Given the description of an element on the screen output the (x, y) to click on. 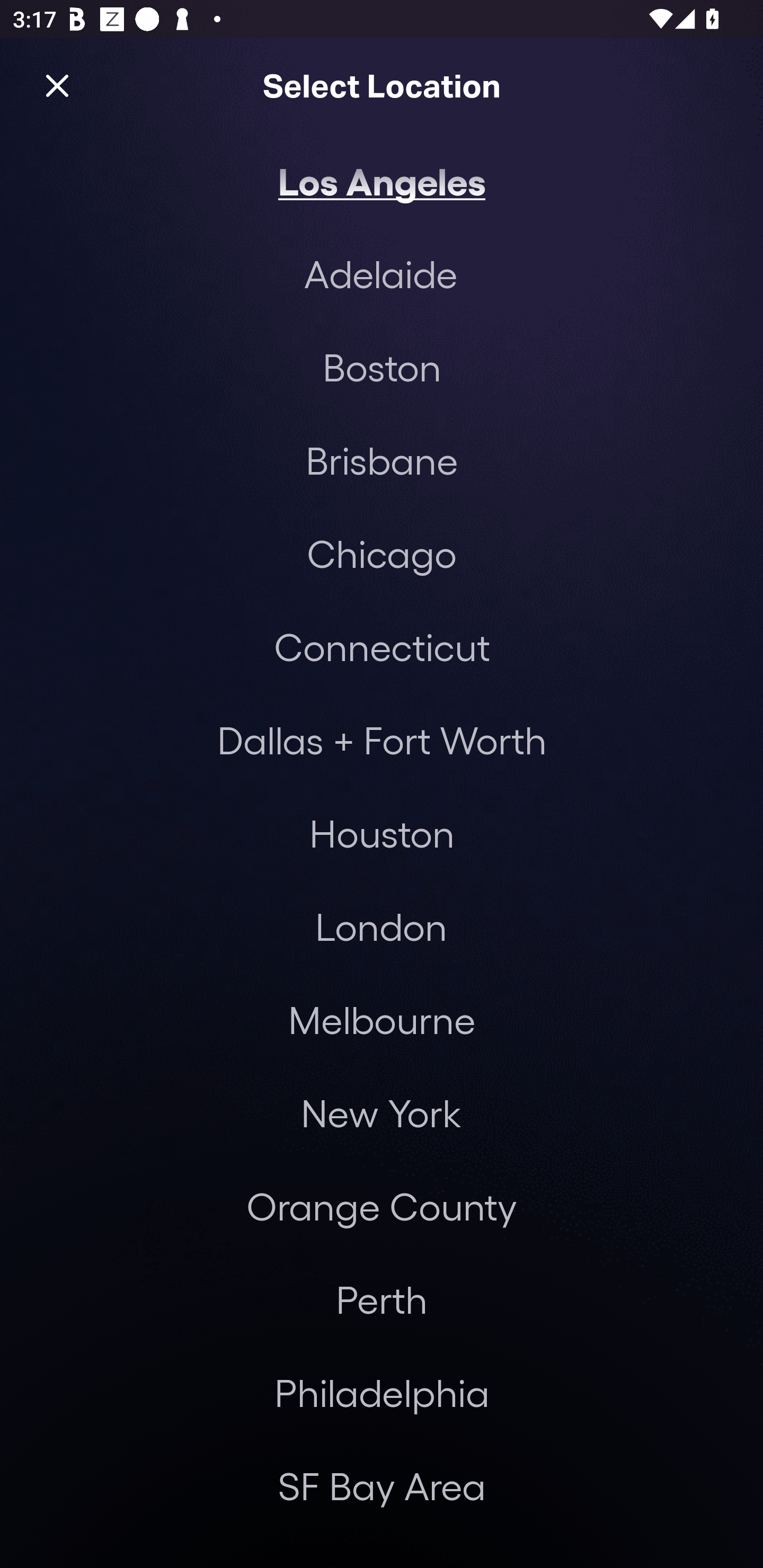
Close (57, 85)
Los Angeles (381, 180)
Adelaide (380, 273)
Boston (381, 366)
Brisbane (381, 459)
Chicago (381, 553)
Connecticut (381, 646)
Dallas + Fort Worth (381, 740)
Houston (381, 833)
London (380, 926)
Melbourne (381, 1019)
New York (380, 1113)
Orange County (381, 1206)
Perth (381, 1298)
Philadelphia (381, 1392)
SF Bay Area (381, 1485)
